Given the description of an element on the screen output the (x, y) to click on. 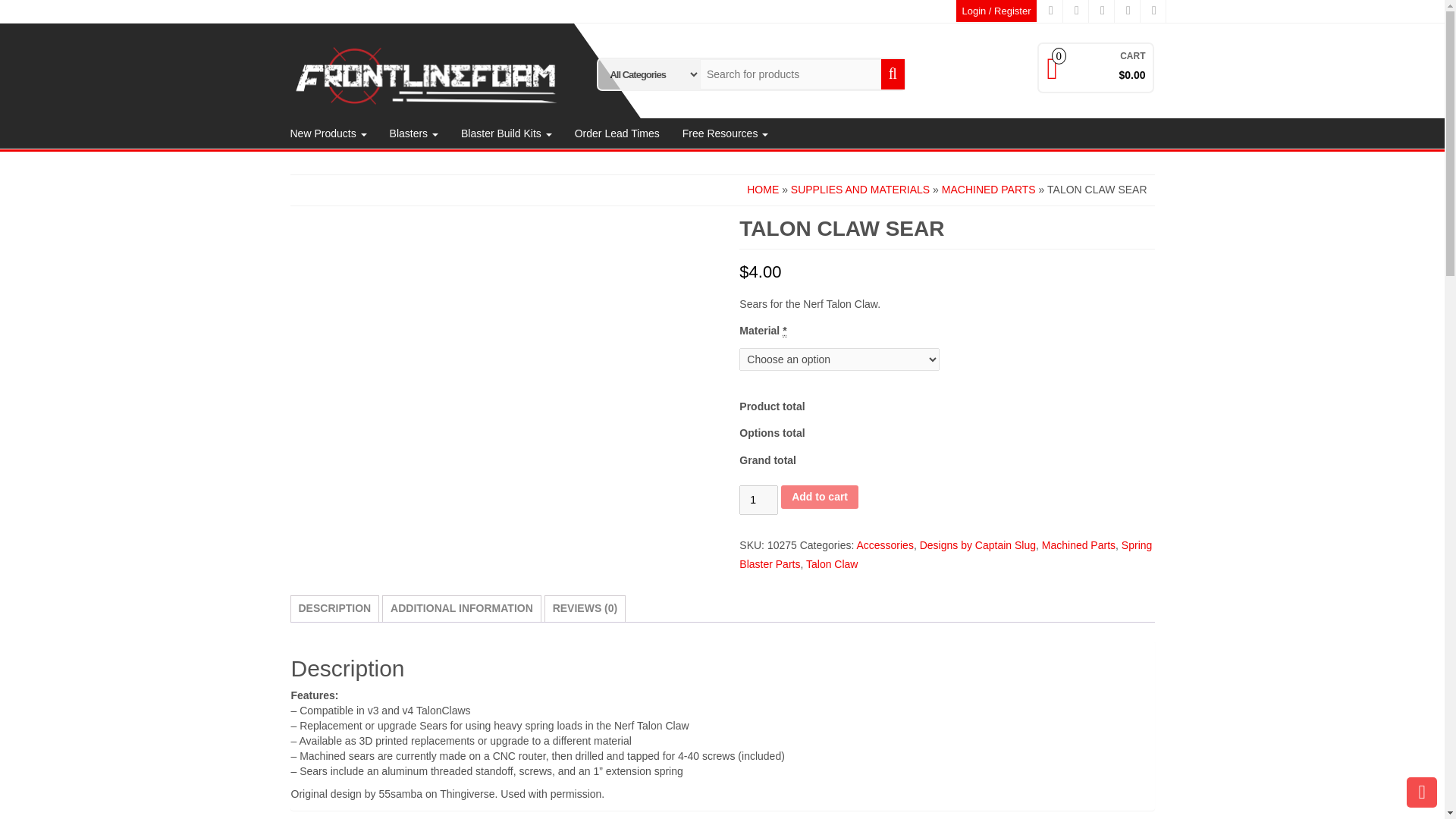
Blaster Build Kits (506, 132)
New Products (328, 132)
1 (758, 500)
Blasters (413, 132)
Spring Blaster Parts (945, 554)
Free Resources (724, 132)
DESCRIPTION (334, 608)
Order Lead Times (617, 132)
HOME (762, 189)
SUPPLIES AND MATERIALS (860, 189)
Blaster Build Kits (506, 132)
ADDITIONAL INFORMATION (461, 608)
Add to cart (819, 496)
Accessories (884, 544)
New Products (328, 132)
